Given the description of an element on the screen output the (x, y) to click on. 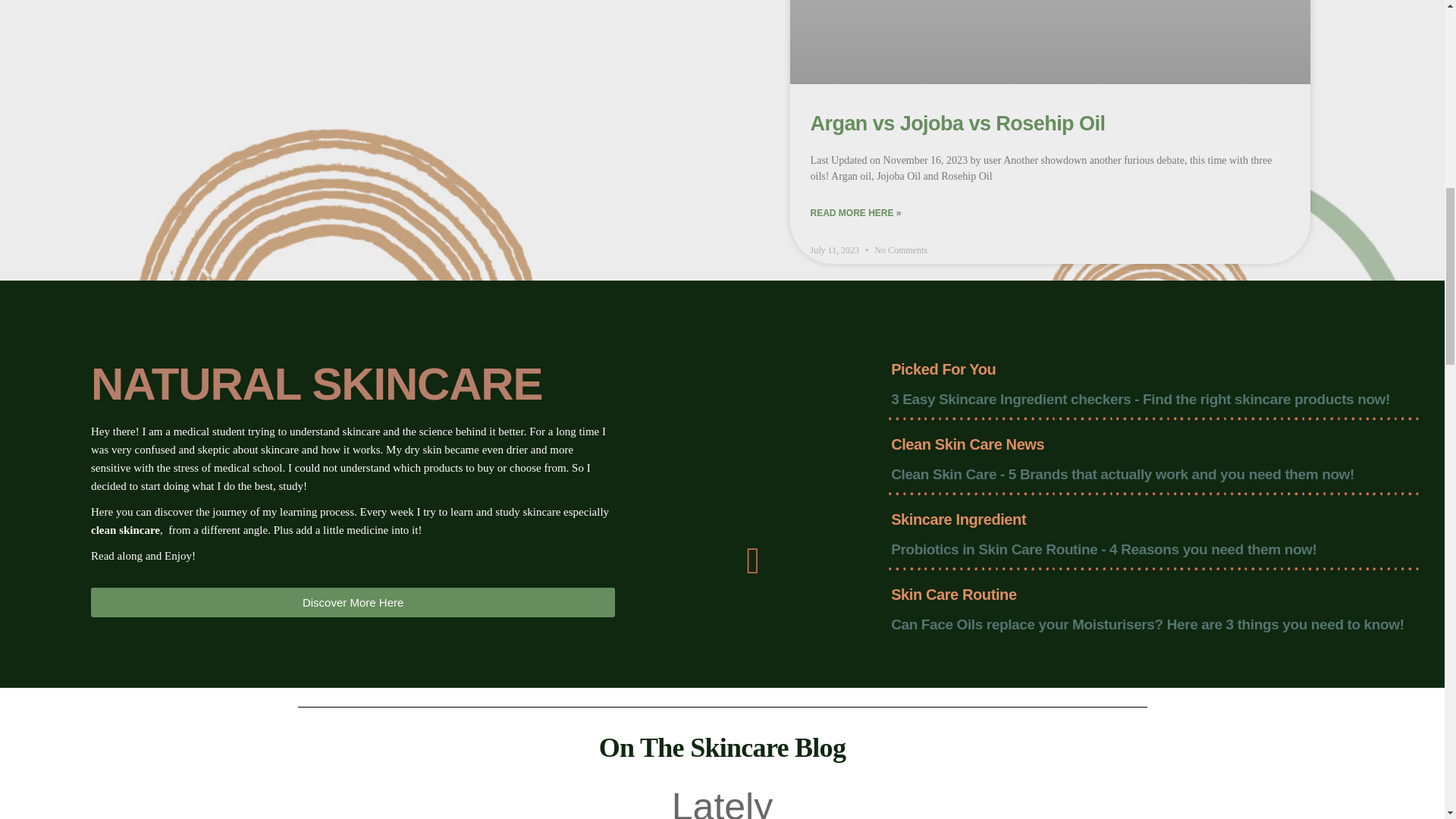
Discover More Here (352, 602)
Argan vs Jojoba vs Rosehip Oil (957, 123)
